Given the description of an element on the screen output the (x, y) to click on. 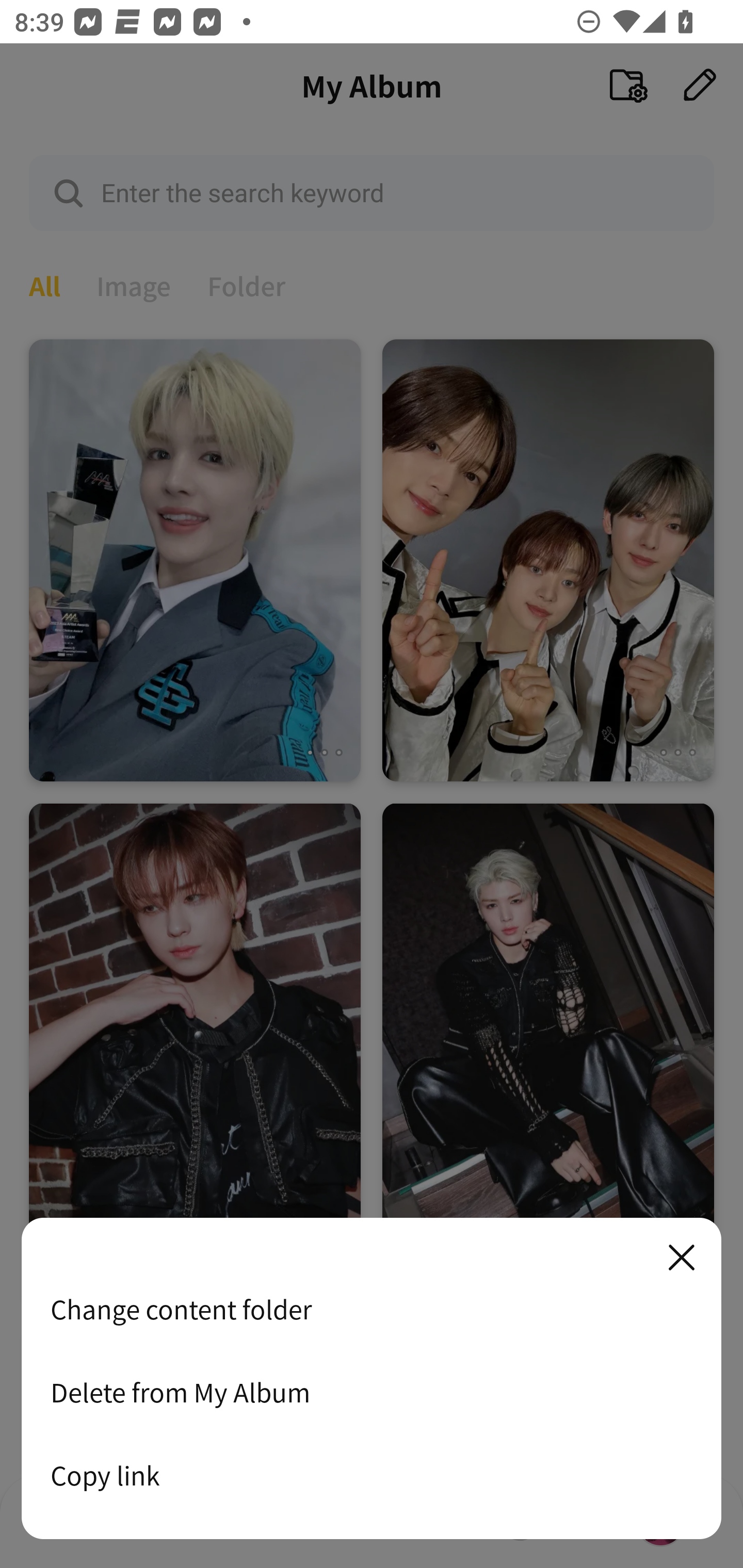
Change content folder (371, 1308)
Delete from My Album (371, 1391)
Copy link (371, 1474)
